Given the description of an element on the screen output the (x, y) to click on. 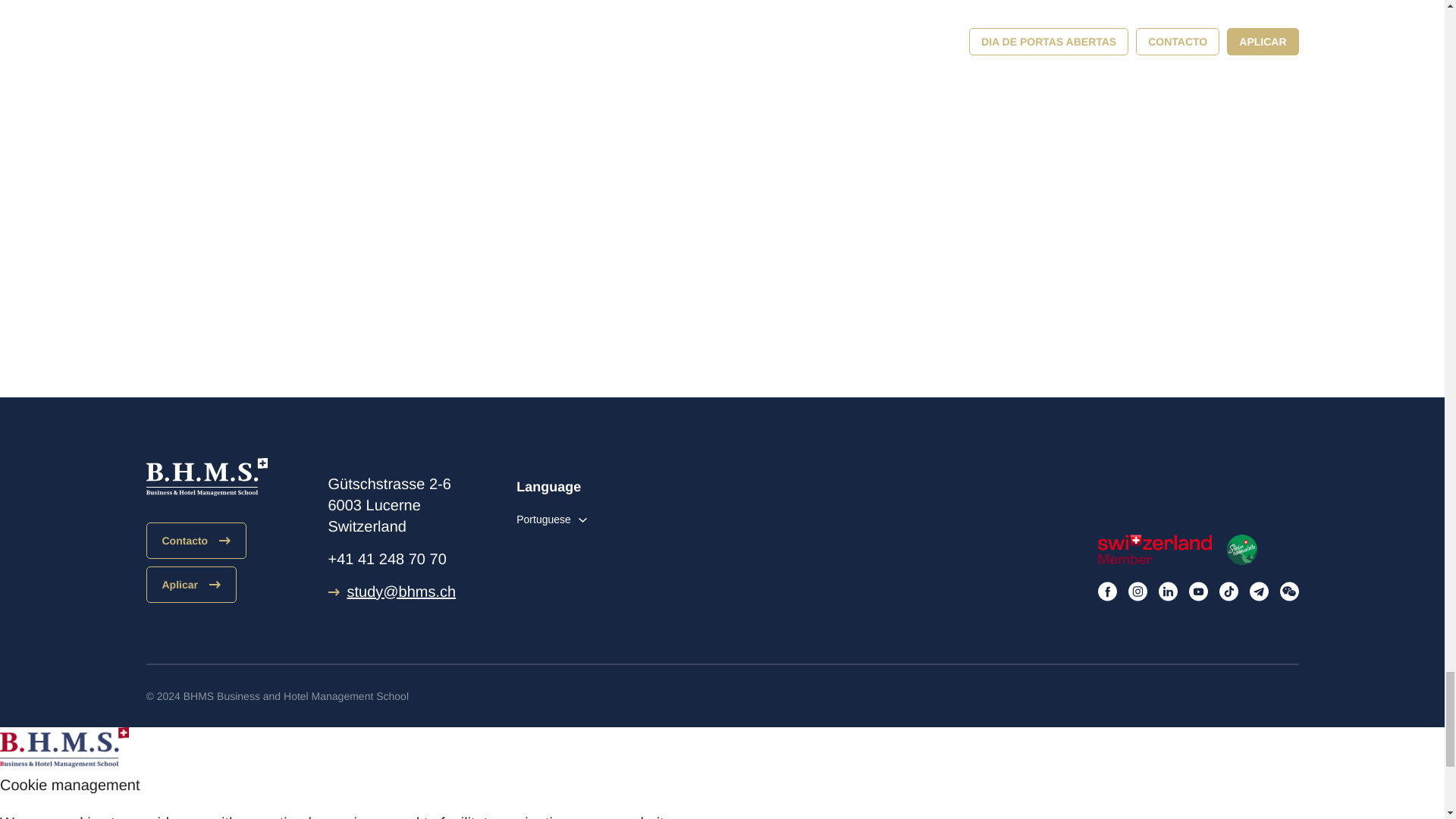
Aplicar (190, 583)
Contacto (195, 539)
Portuguese (551, 519)
